Given the description of an element on the screen output the (x, y) to click on. 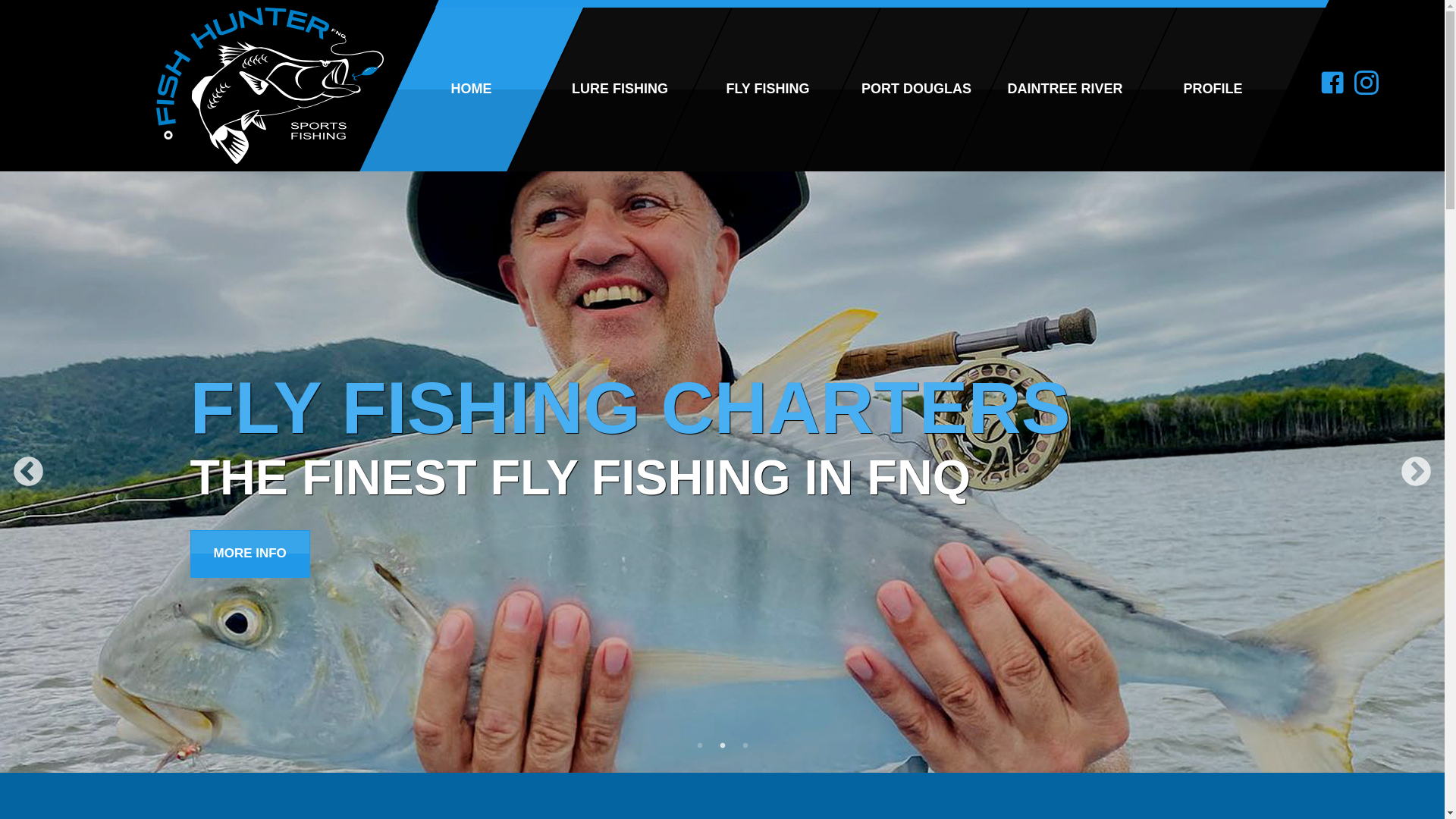
2 Element type: text (721, 745)
3 Element type: text (744, 745)
HOME Element type: text (432, 89)
Next Element type: text (1416, 472)
PORT DOUGLAS Element type: text (877, 89)
MORE INFO Element type: text (249, 553)
DAINTREE RIVER Element type: text (1026, 89)
Previous Element type: text (28, 472)
FLY FISHING Element type: text (729, 89)
1 Element type: text (698, 745)
LURE FISHING Element type: text (581, 89)
PROFILE Element type: text (1174, 89)
